Given the description of an element on the screen output the (x, y) to click on. 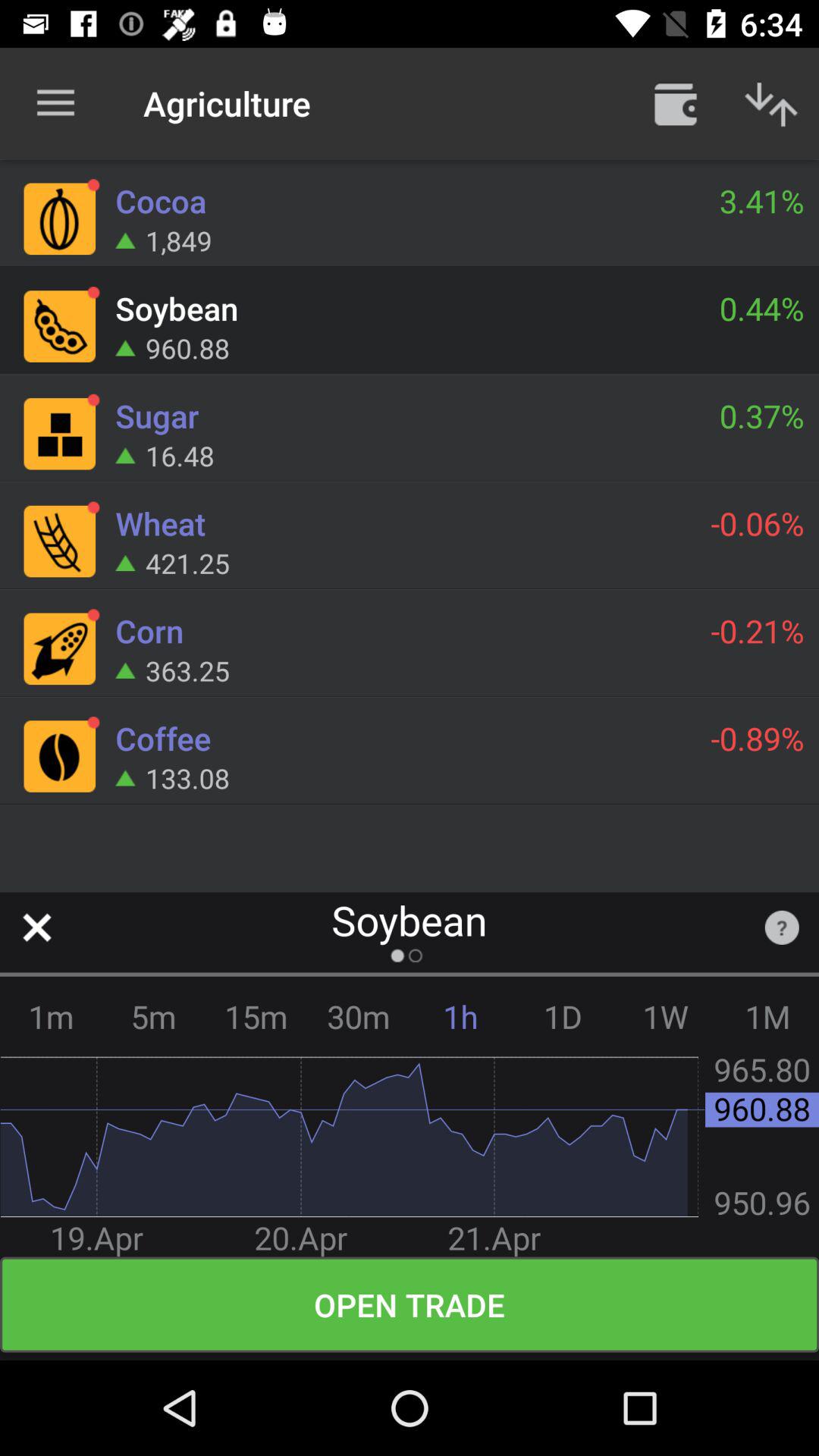
select 5m (153, 1016)
